Given the description of an element on the screen output the (x, y) to click on. 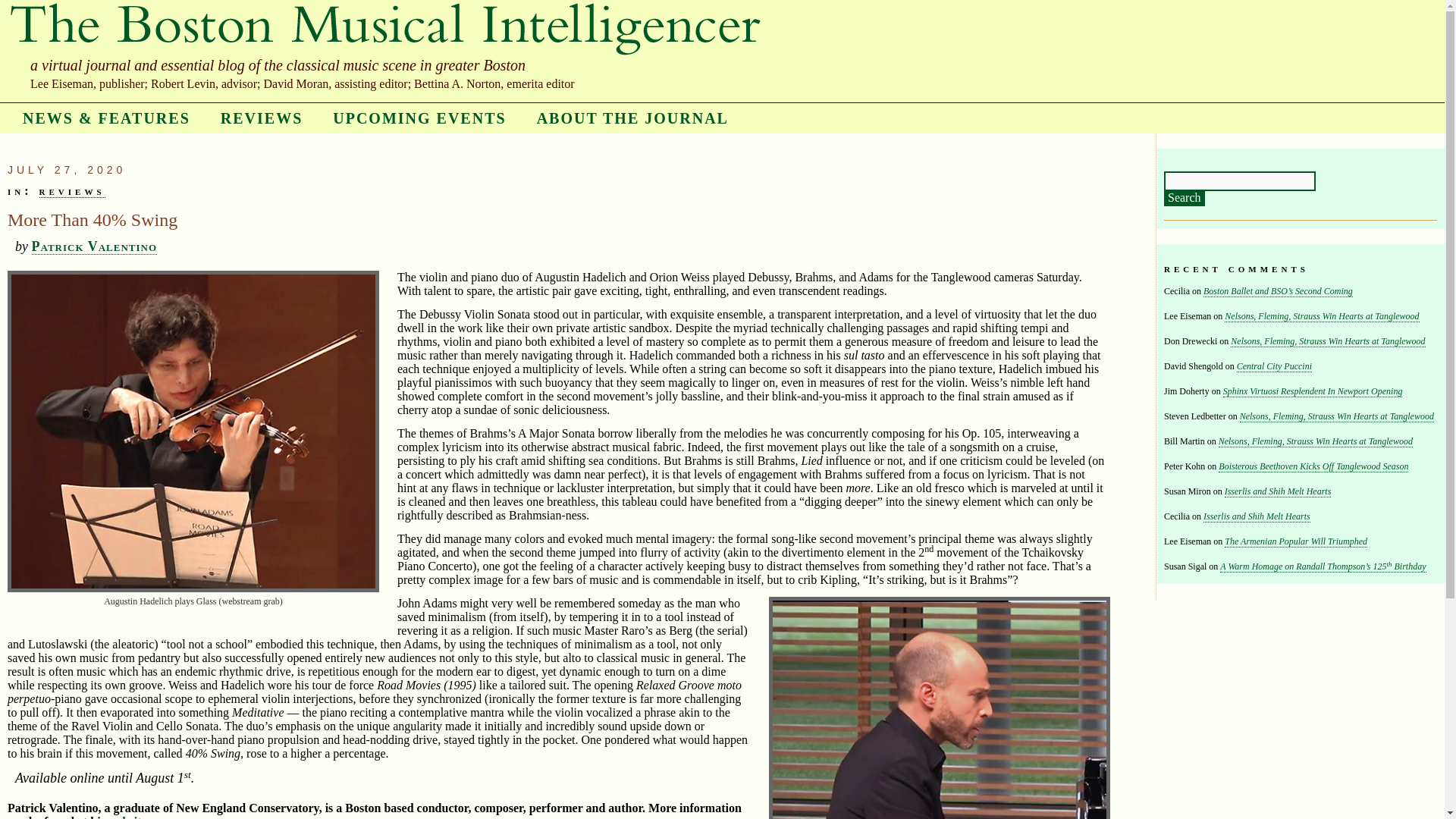
Sphinx Virtuosi Resplendent In Newport Opening (1313, 391)
reviews (71, 191)
UPCOMING EVENTS (419, 118)
Isserlis and Shih Melt Hearts (1257, 516)
Nelsons, Fleming, Strauss Win Hearts at Tanglewood (1321, 316)
website (127, 816)
Search (1184, 198)
Boisterous Beethoven Kicks Off Tanglewood Season (1312, 466)
Nelsons, Fleming, Strauss Win Hearts at Tanglewood (1337, 416)
The Armenian Popular Will Triumphed (1295, 541)
Nelsons, Fleming, Strauss Win Hearts at Tanglewood (1315, 441)
Patrick Valentino (94, 246)
Central City Puccini (1273, 366)
Patrick Valentino (94, 246)
ABOUT THE JOURNAL (632, 118)
